Given the description of an element on the screen output the (x, y) to click on. 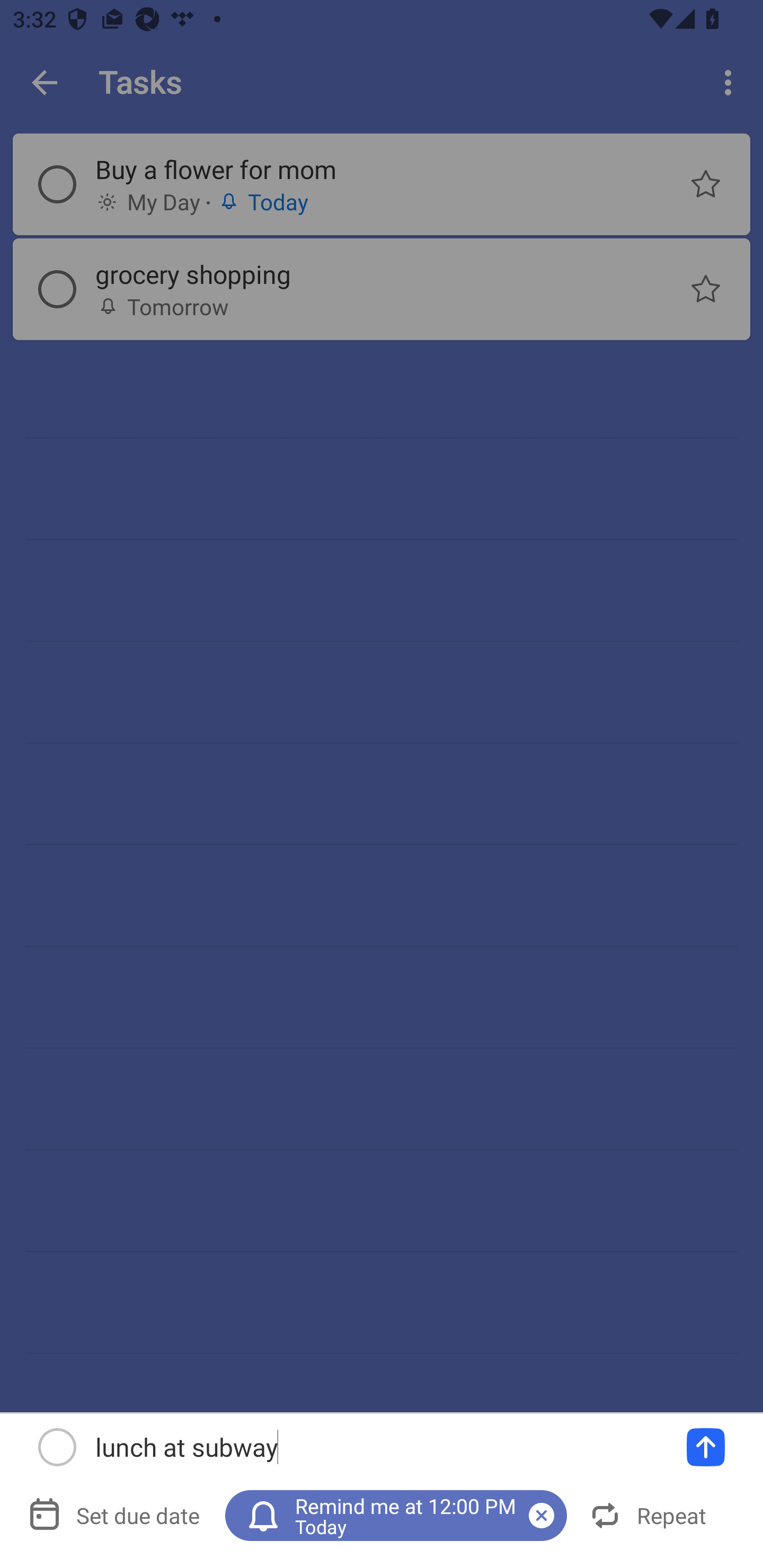
Add a task (705, 1446)
